Given the description of an element on the screen output the (x, y) to click on. 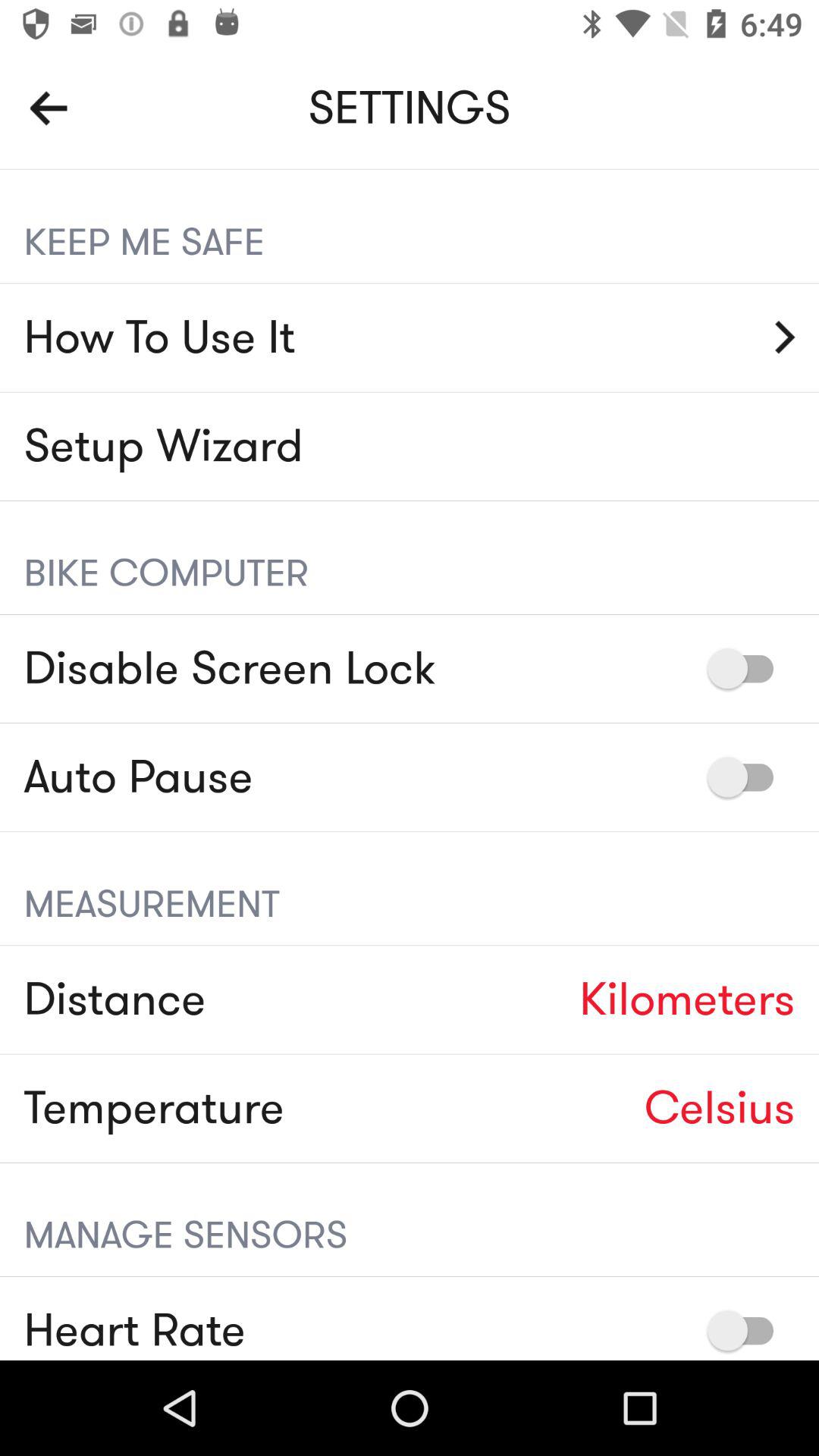
switch screen lock (747, 668)
